Given the description of an element on the screen output the (x, y) to click on. 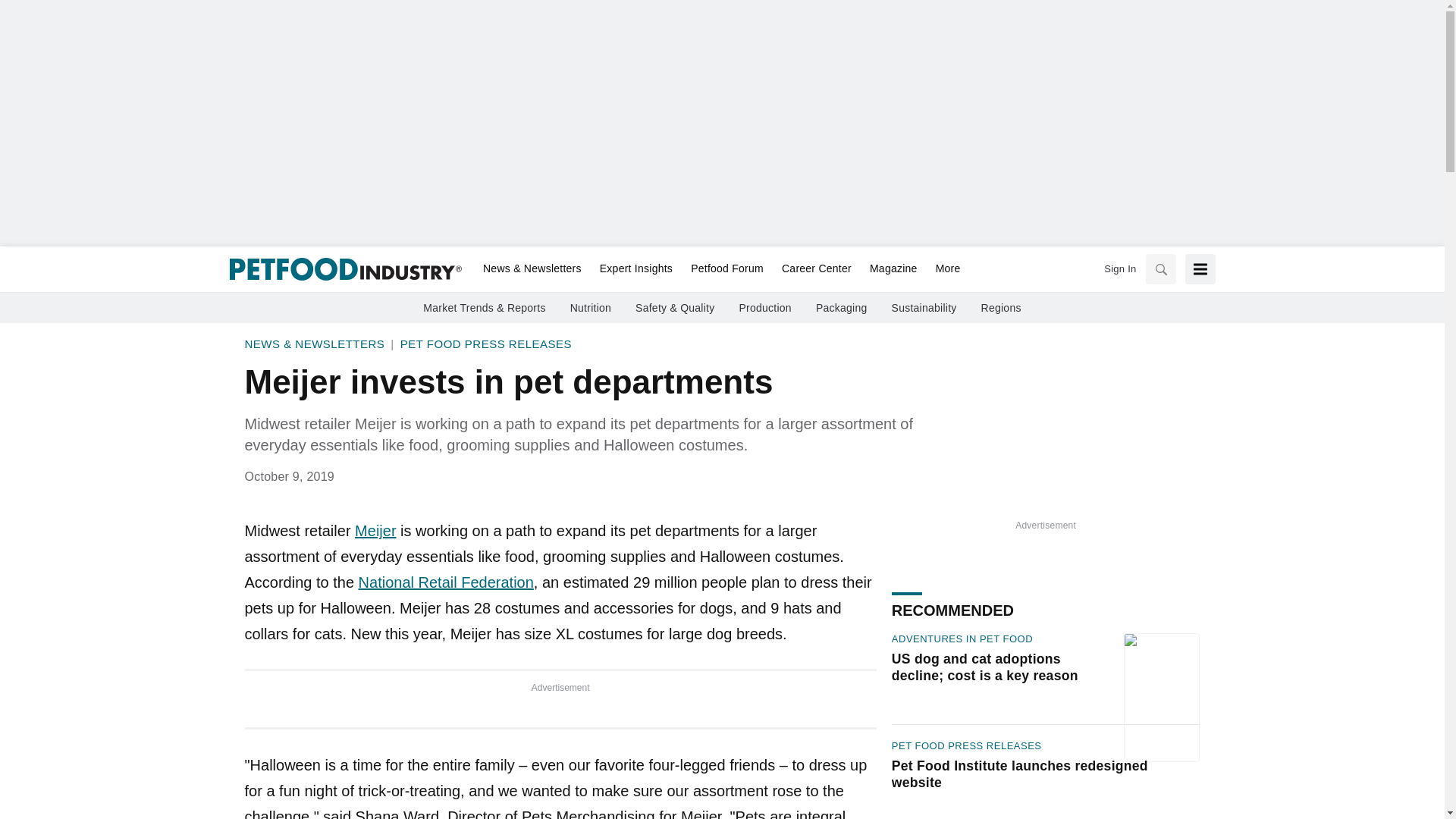
Regions (1001, 307)
Production (764, 307)
Expert Insights (636, 269)
Nutrition (590, 307)
Sign In (1119, 268)
More (943, 269)
Sustainability (923, 307)
Pet Food Press Releases (486, 343)
Petfood Forum (727, 269)
Packaging (841, 307)
Magazine (893, 269)
Career Center (816, 269)
